Given the description of an element on the screen output the (x, y) to click on. 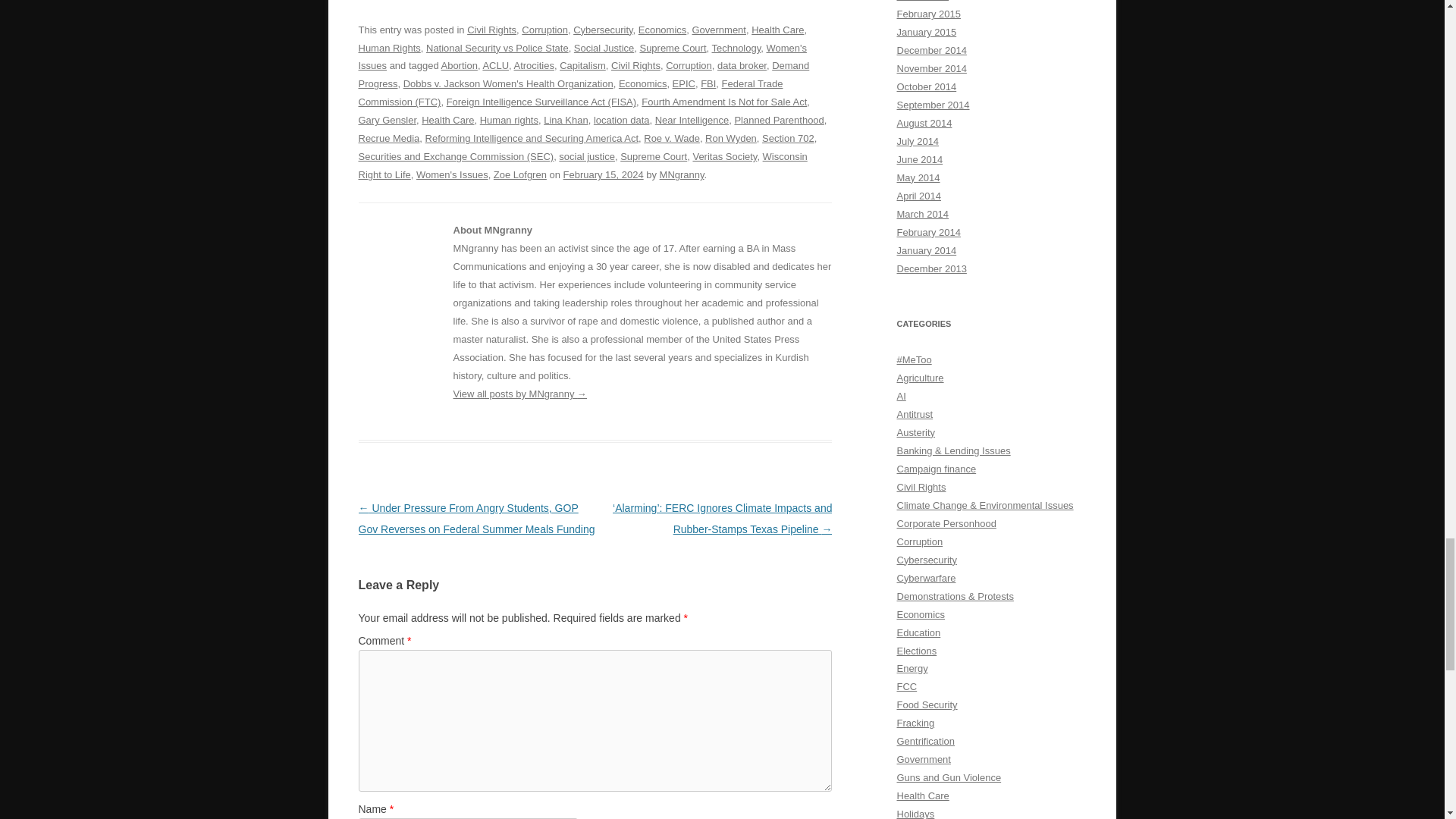
6:30 am (603, 174)
View all posts by MNgranny (681, 174)
